Given the description of an element on the screen output the (x, y) to click on. 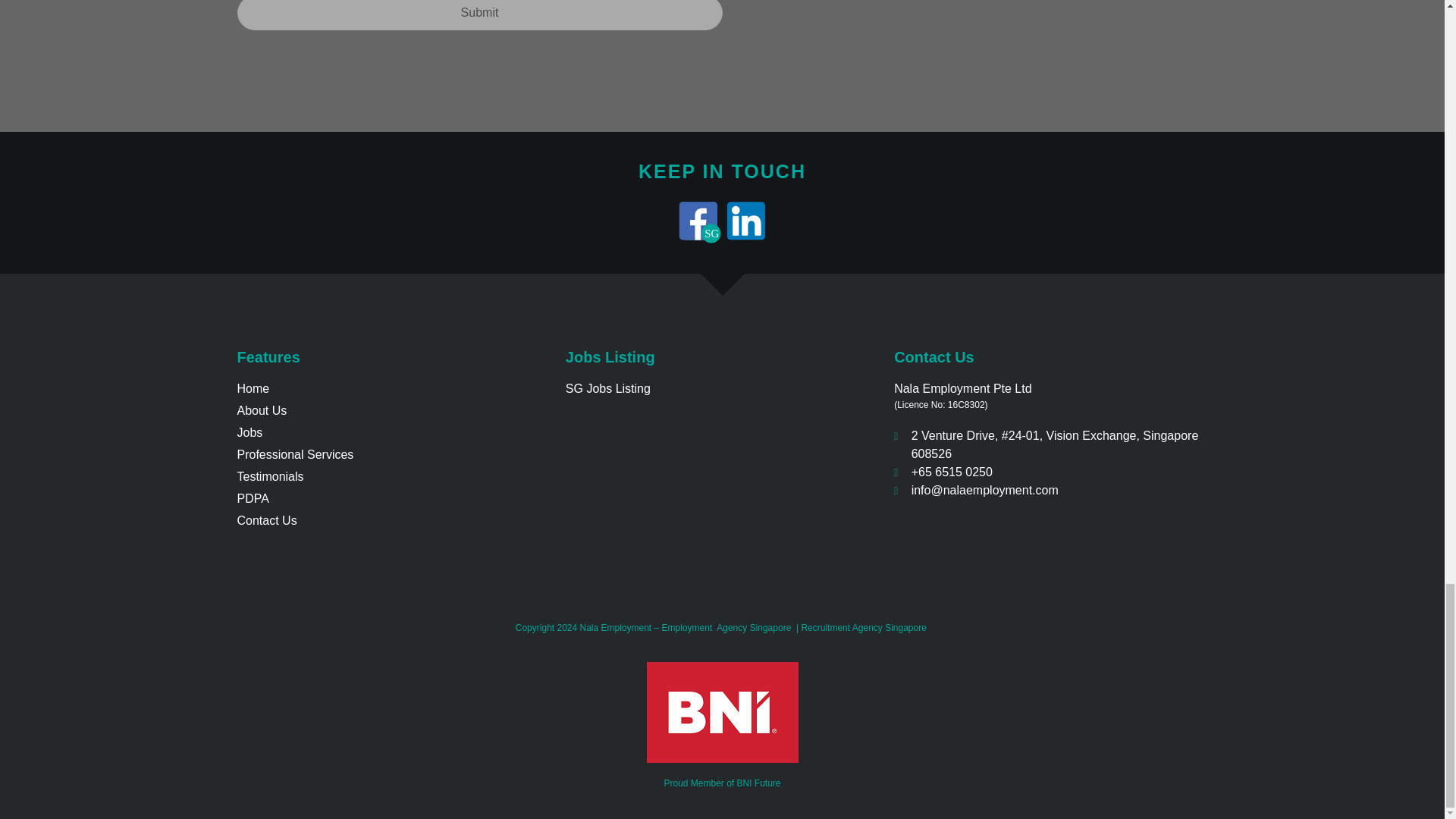
SG Jobs Listing (722, 389)
Submit (478, 15)
SG (697, 220)
SG (697, 220)
Home (392, 389)
PDPA (392, 498)
Jobs (392, 433)
About Us (392, 411)
Testimonials (392, 476)
Contact Us (392, 520)
Professional Services (392, 454)
